Given the description of an element on the screen output the (x, y) to click on. 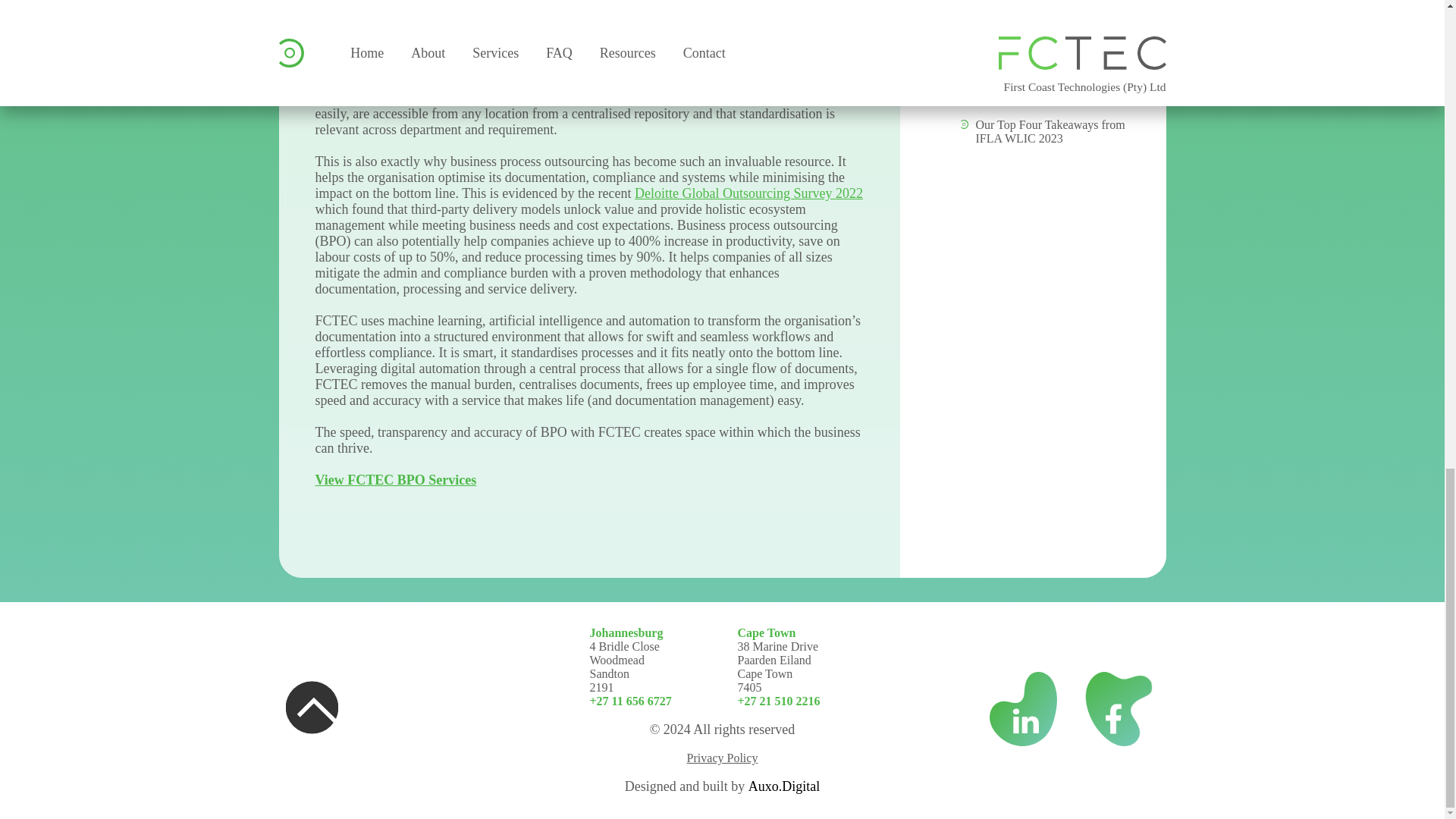
View FCTEC BPO Services (396, 479)
Deloitte Global Outsourcing Survey 2022 (748, 192)
Our Top Four Takeaways from IFLA WLIC 2023 (1049, 130)
Boosting Productivity with Document Processing Services (1050, 80)
